Given the description of an element on the screen output the (x, y) to click on. 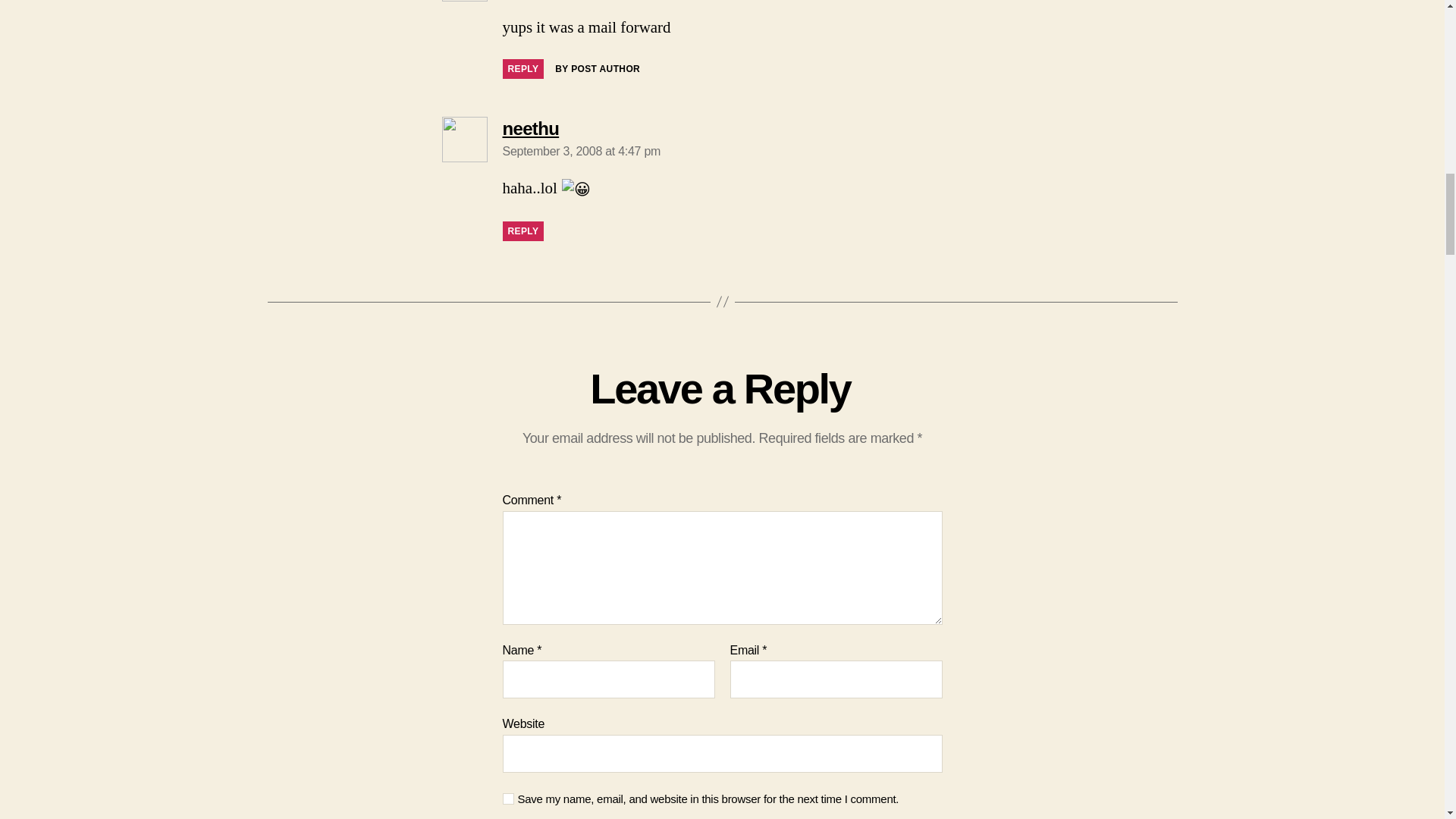
REPLY (522, 230)
yes (507, 798)
September 3, 2008 at 4:47 pm (581, 151)
REPLY (522, 230)
REPLY (522, 68)
REPLY (522, 68)
September 3, 2008 at 4:47 pm (581, 151)
